Given the description of an element on the screen output the (x, y) to click on. 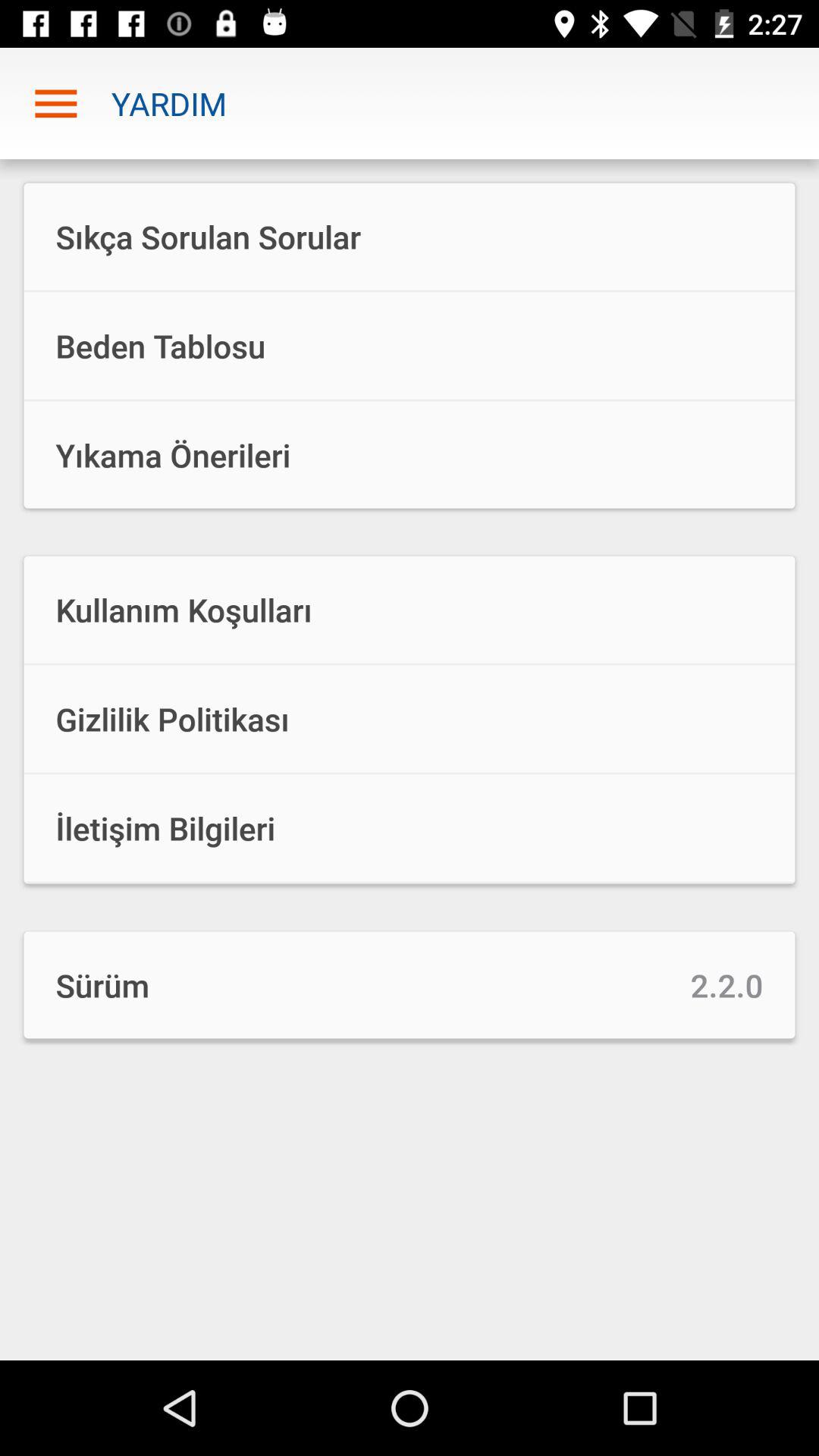
tap the icon to the left of yardim item (55, 103)
